Given the description of an element on the screen output the (x, y) to click on. 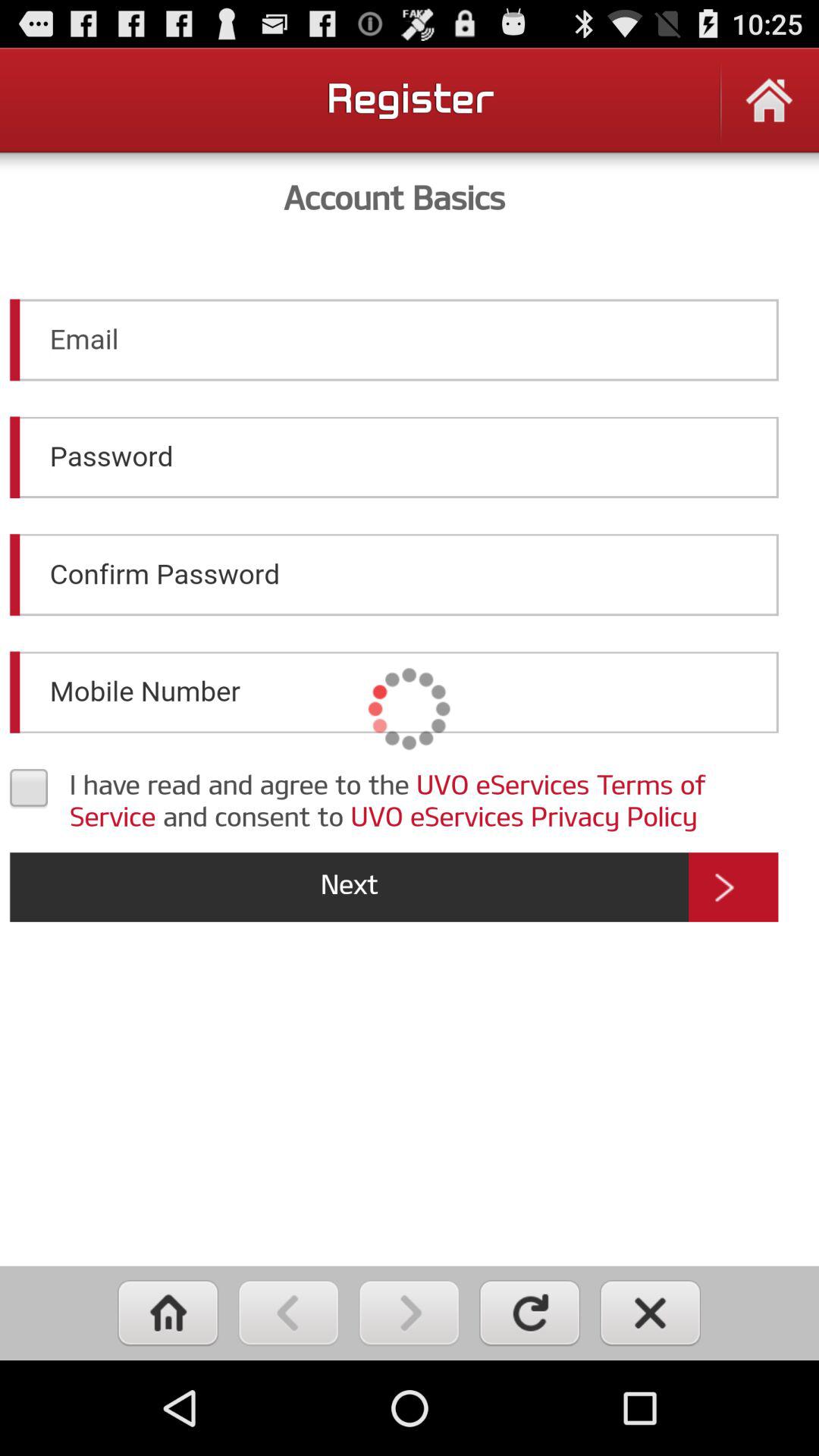
go to homepage (769, 110)
